Given the description of an element on the screen output the (x, y) to click on. 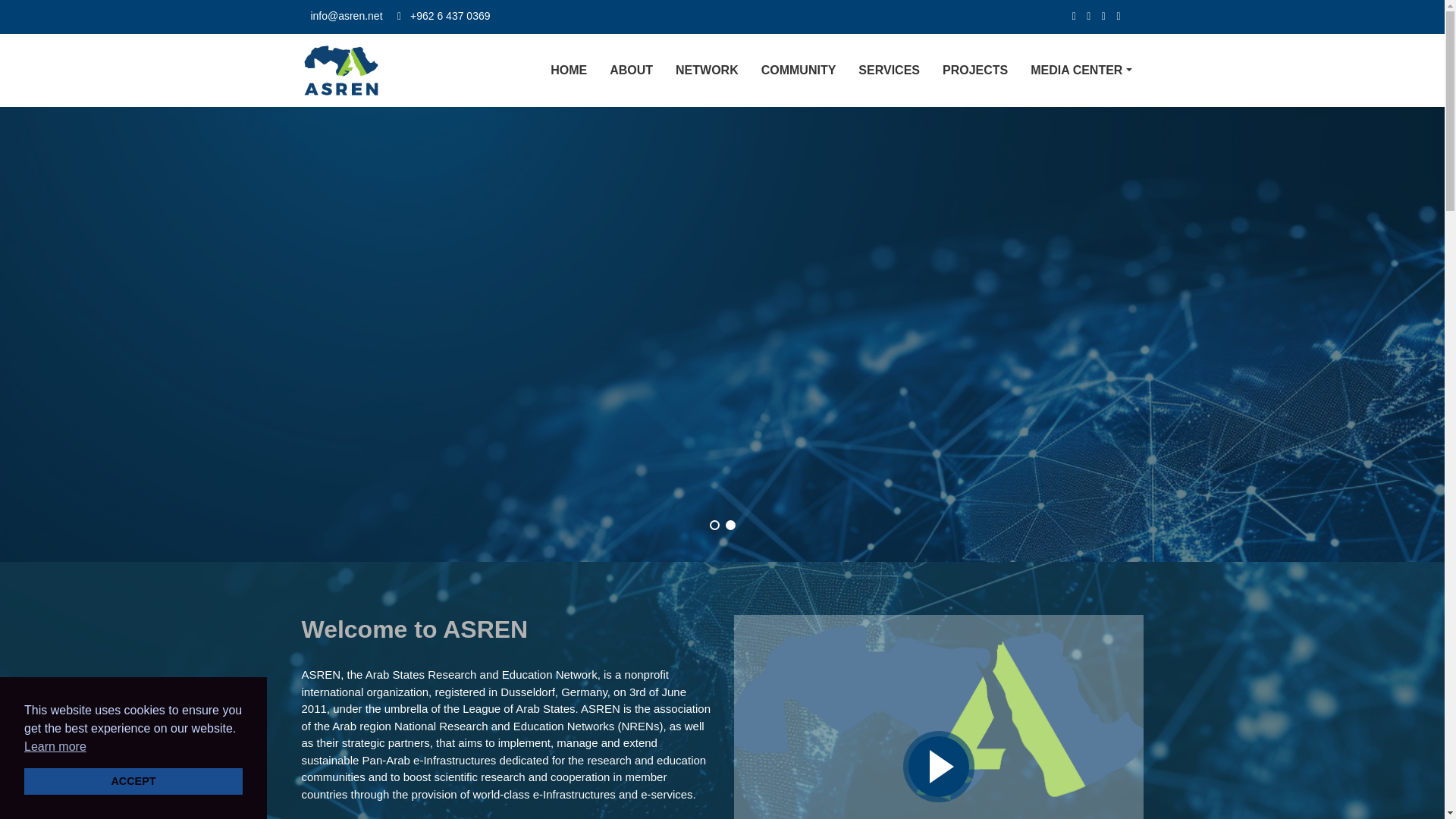
Learn more (54, 746)
SERVICES (889, 70)
MEDIA CENTER (1080, 70)
ABOUT (631, 70)
ACCEPT (133, 780)
COMMUNITY (798, 70)
PROJECTS (974, 70)
NETWORK (706, 70)
HOME (568, 70)
